Given the description of an element on the screen output the (x, y) to click on. 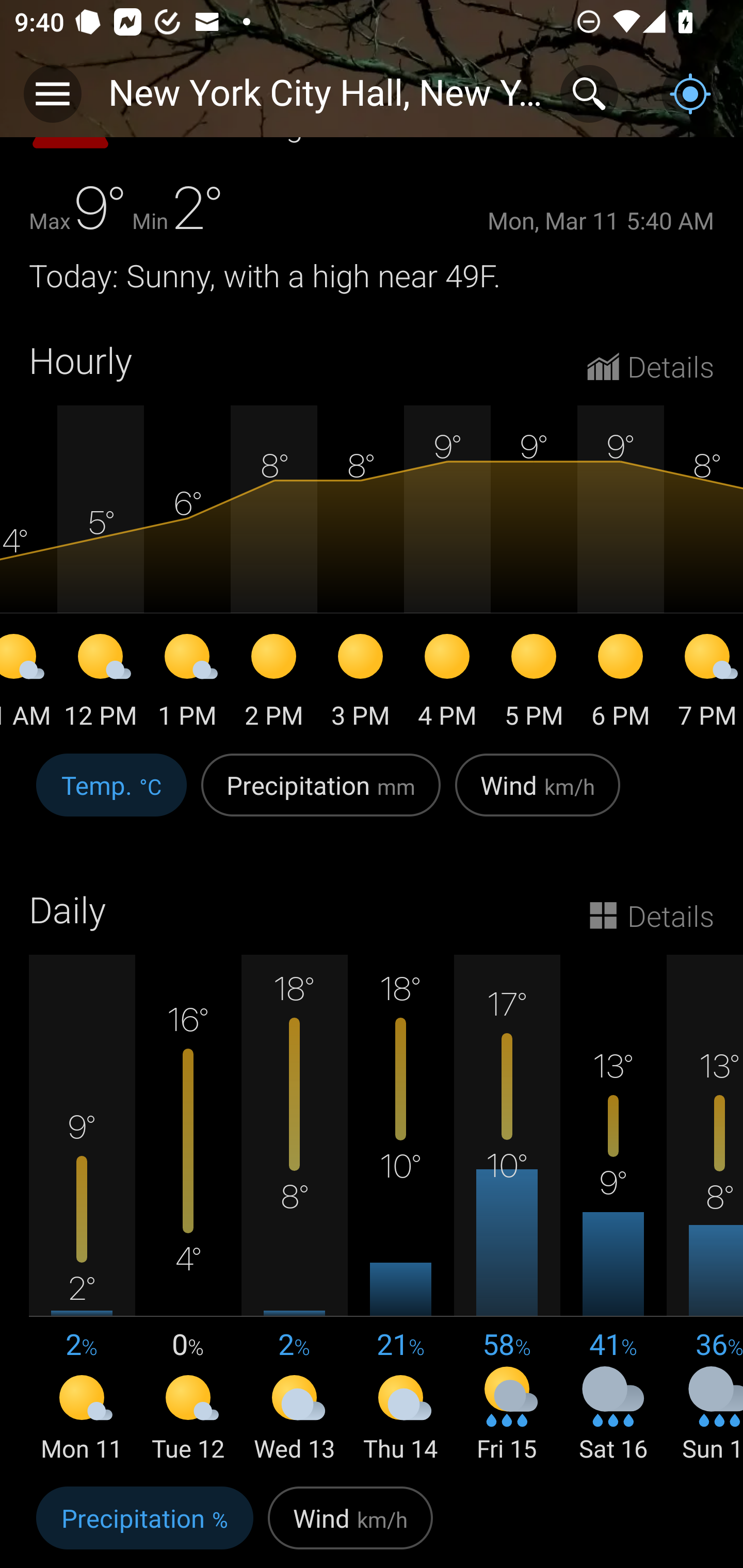
11 AM (28, 684)
12 PM (100, 684)
1 PM (187, 684)
2 PM (273, 684)
3 PM (360, 684)
4 PM (447, 684)
5 PM (533, 684)
6 PM (620, 684)
7 PM (703, 684)
Temp. °C (110, 795)
Precipitation mm (320, 795)
Wind km/h (537, 795)
9° 2° 2 % Mon 11 (81, 1209)
16° 4° 0 % Tue 12 (188, 1209)
18° 8° 2 % Wed 13 (294, 1209)
18° 10° 21 % Thu 14 (400, 1209)
17° 10° 58 % Fri 15 (506, 1209)
13° 9° 41 % Sat 16 (613, 1209)
13° 8° 36 % Sun 17 (704, 1209)
Precipitation % (144, 1523)
Wind km/h (349, 1523)
